Given the description of an element on the screen output the (x, y) to click on. 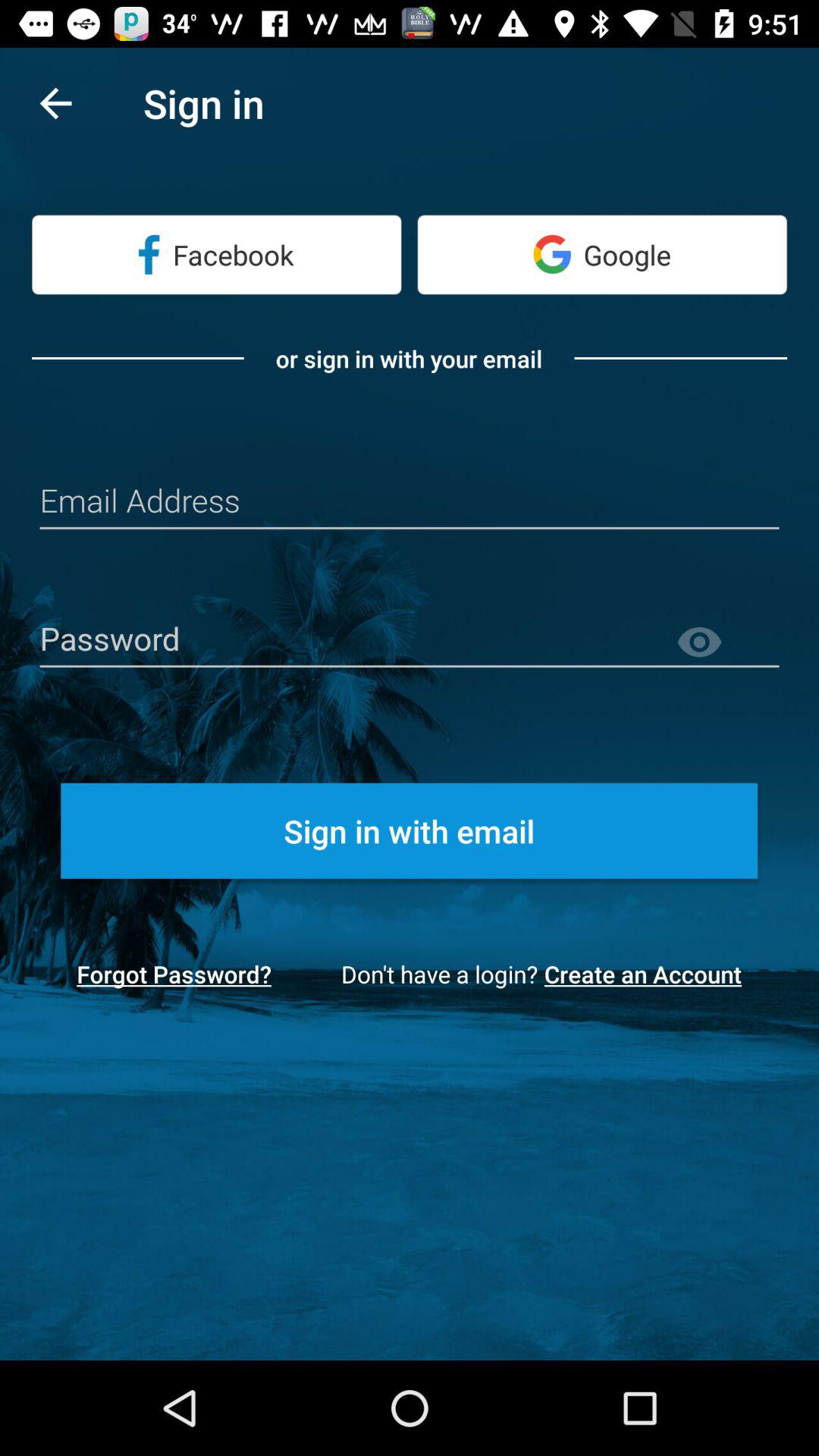
password (409, 640)
